Given the description of an element on the screen output the (x, y) to click on. 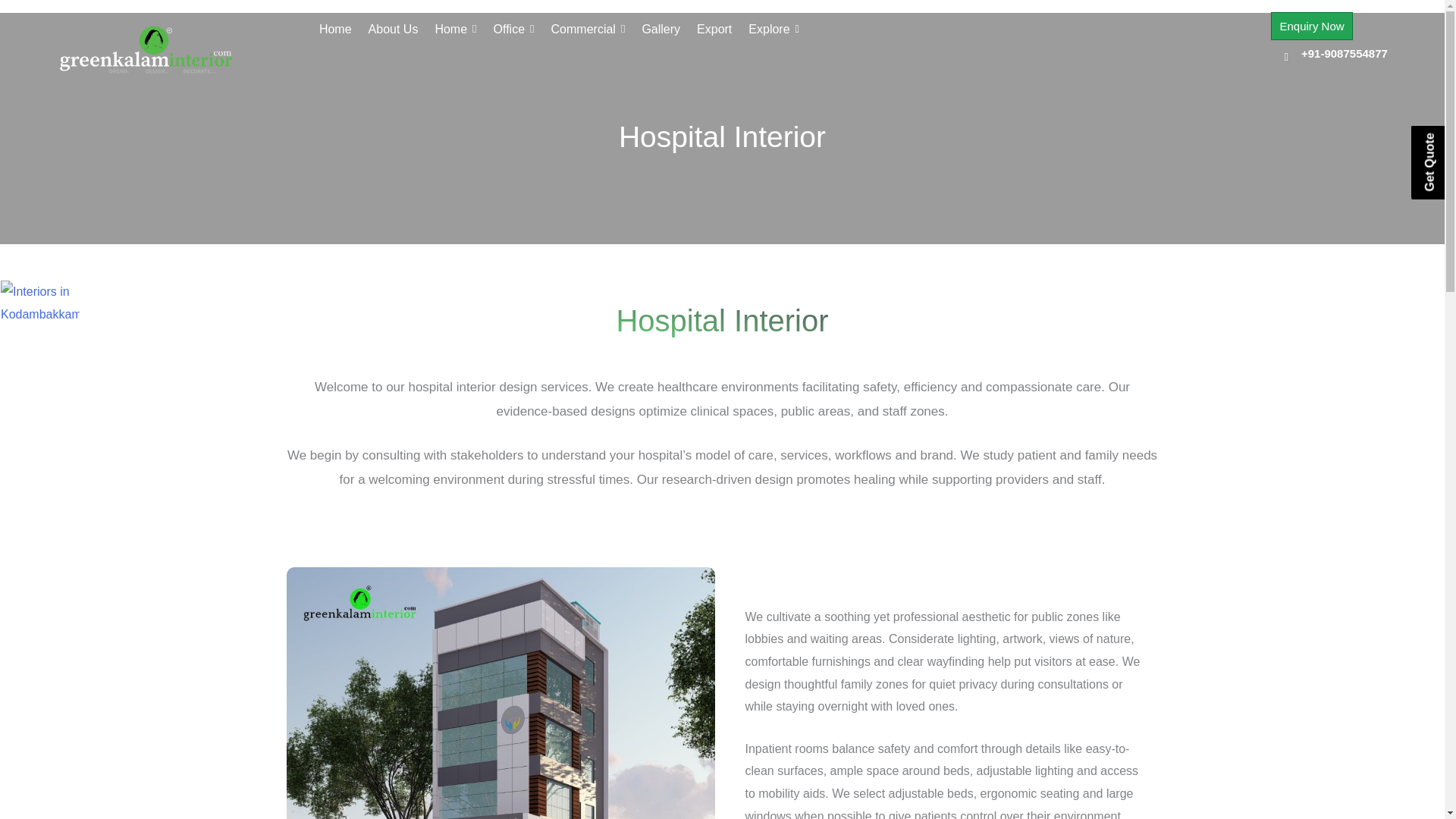
About Us (393, 29)
Home (454, 29)
Home (335, 29)
Office (513, 29)
Gallery (660, 29)
Commercial (588, 29)
Explore (773, 29)
Export (714, 29)
